Given the description of an element on the screen output the (x, y) to click on. 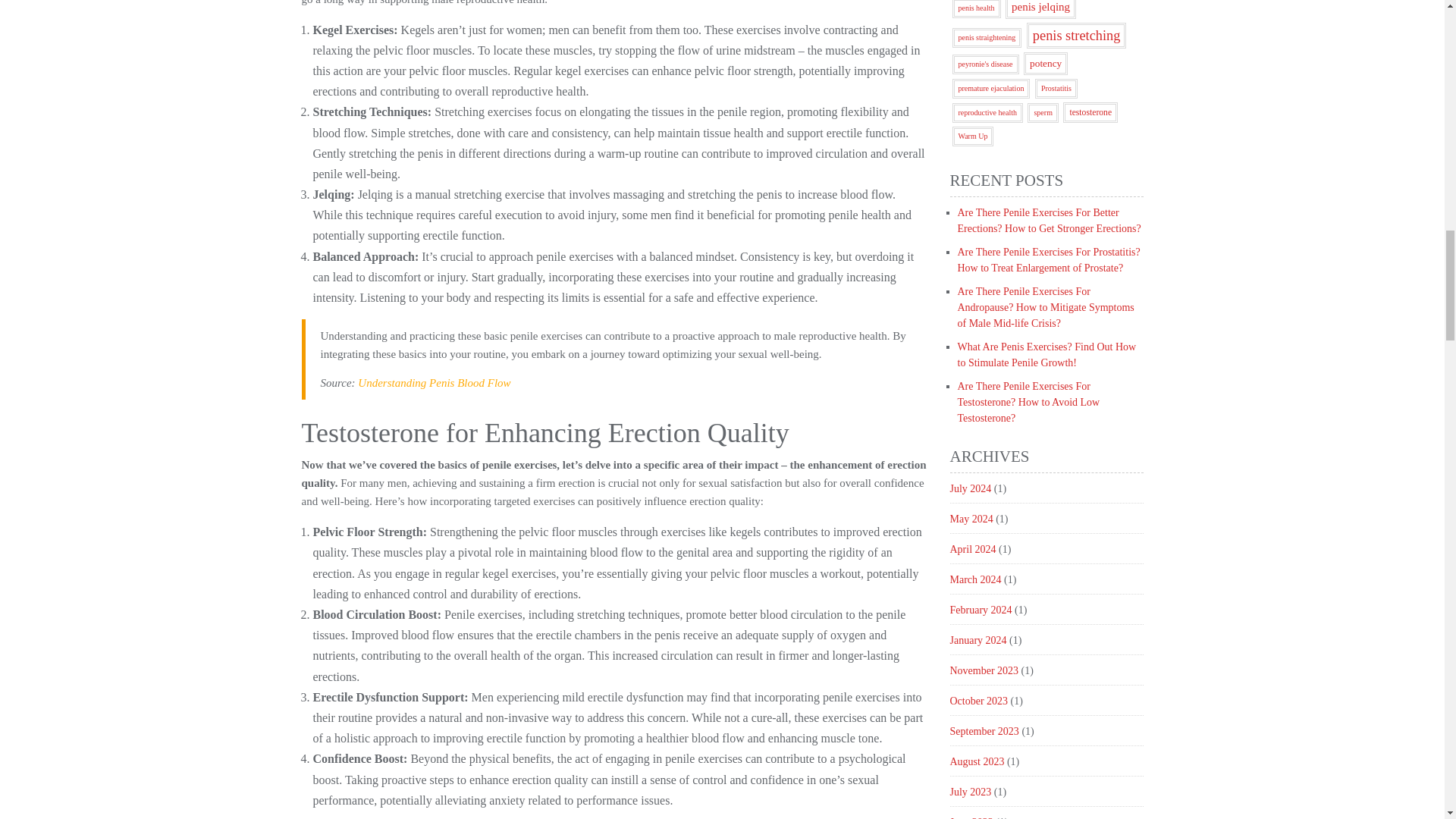
Understanding Penis Blood Flow (434, 382)
